Given the description of an element on the screen output the (x, y) to click on. 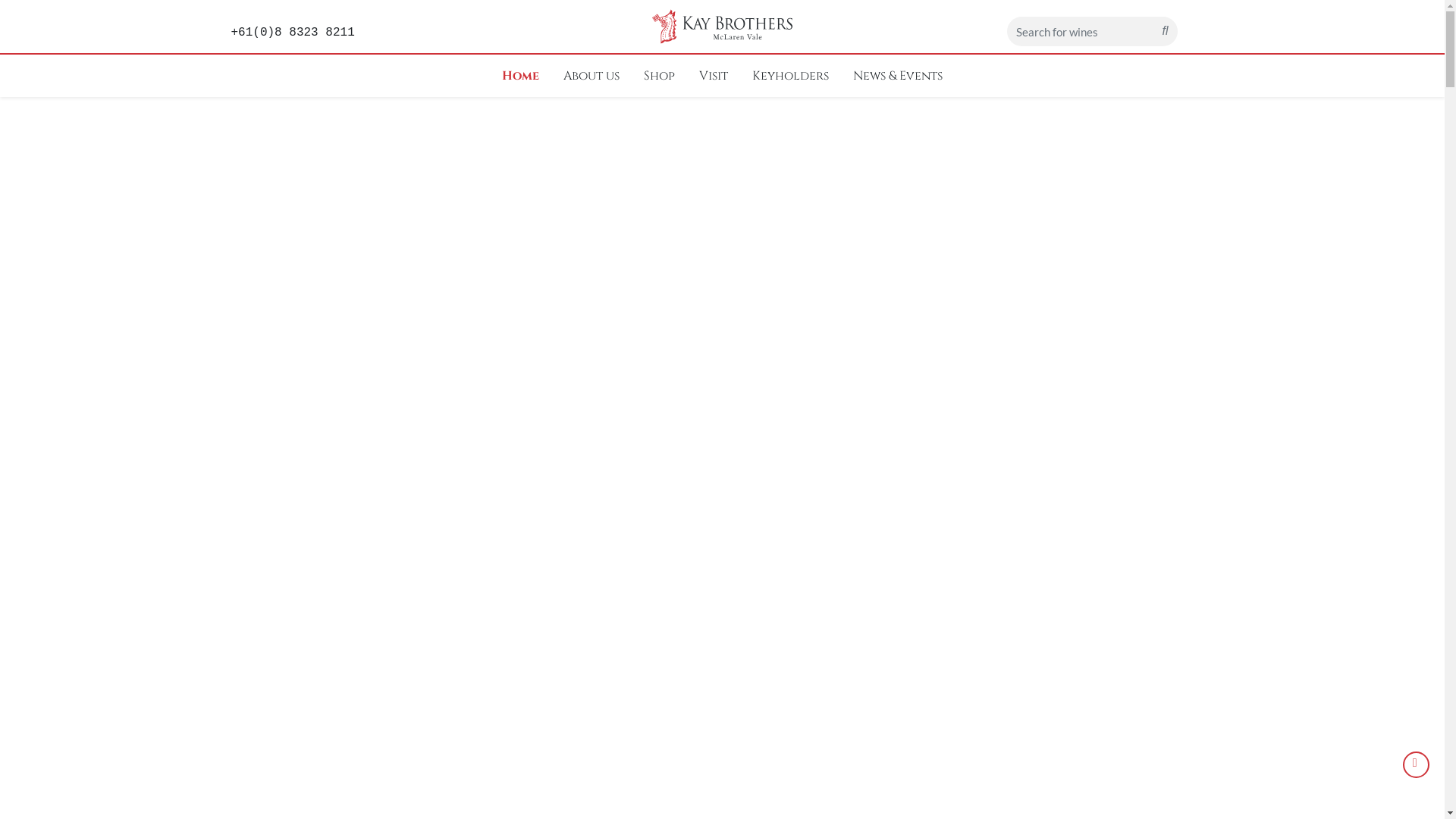
Kay Brothers Element type: hover (722, 25)
Home Element type: text (520, 75)
About us Element type: text (591, 75)
Visit Element type: text (713, 75)
News & Events Element type: text (897, 75)
Keyholders Element type: text (790, 75)
Shop Element type: text (658, 75)
+61(0)8 8323 8211 Element type: text (292, 32)
